Given the description of an element on the screen output the (x, y) to click on. 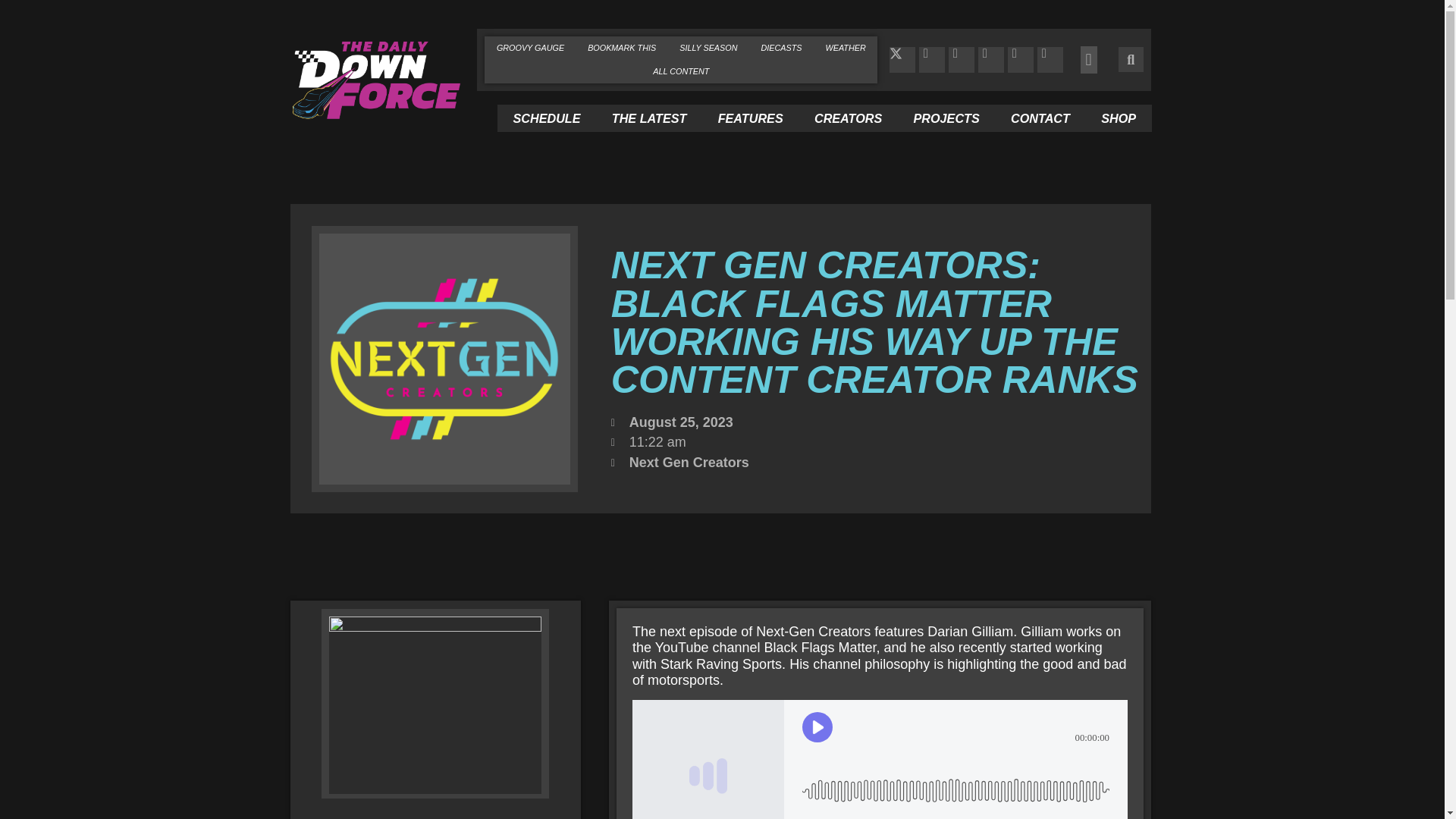
THE LATEST (648, 117)
ALL CONTENT (680, 71)
SCHEDULE (546, 117)
DIECASTS (781, 47)
FEATURES (749, 117)
GROOVY GAUGE (529, 47)
WEATHER (845, 47)
BOOKMARK THIS (622, 47)
SILLY SEASON (708, 47)
